Given the description of an element on the screen output the (x, y) to click on. 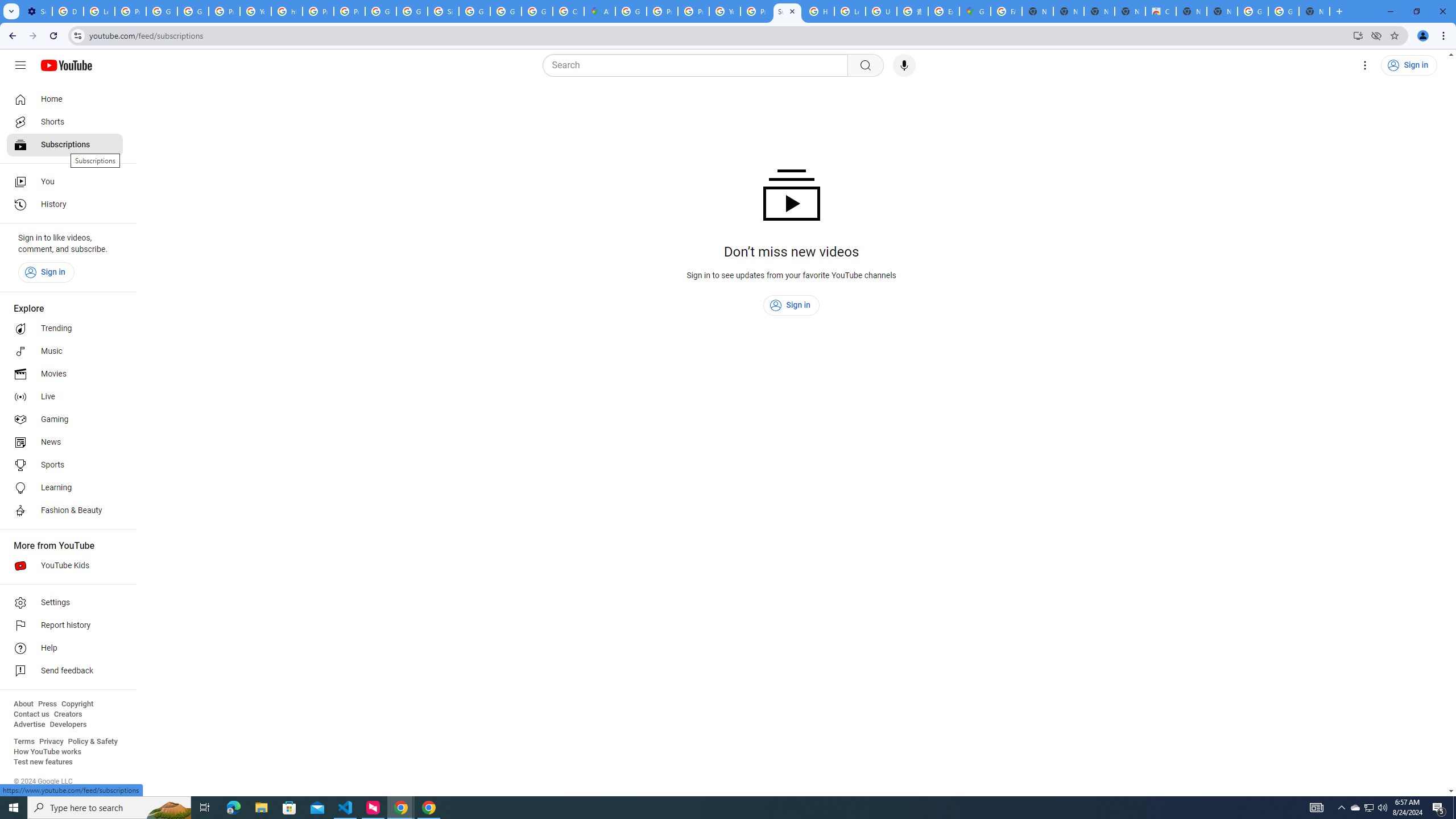
Google Images (1252, 11)
Google Account Help (161, 11)
Search with your voice (903, 65)
Music (64, 350)
About (23, 703)
How YouTube works (47, 751)
Learning (64, 487)
Sign in - Google Accounts (443, 11)
